Given the description of an element on the screen output the (x, y) to click on. 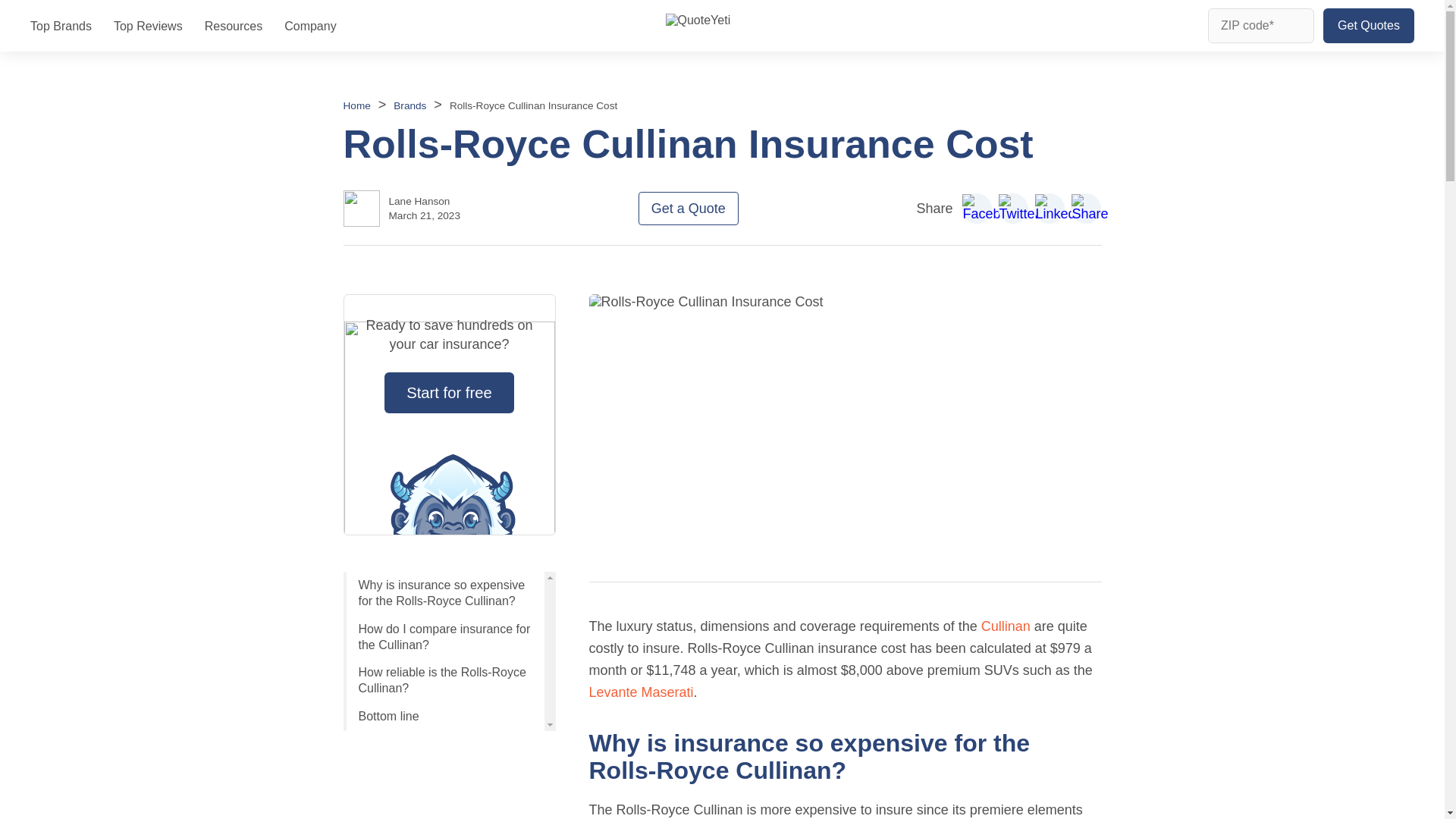
Top Brands (60, 25)
March 21, 2023 (424, 215)
Get Quotes (1368, 25)
Resources (233, 25)
Top Reviews (148, 25)
Company (309, 25)
